Given the description of an element on the screen output the (x, y) to click on. 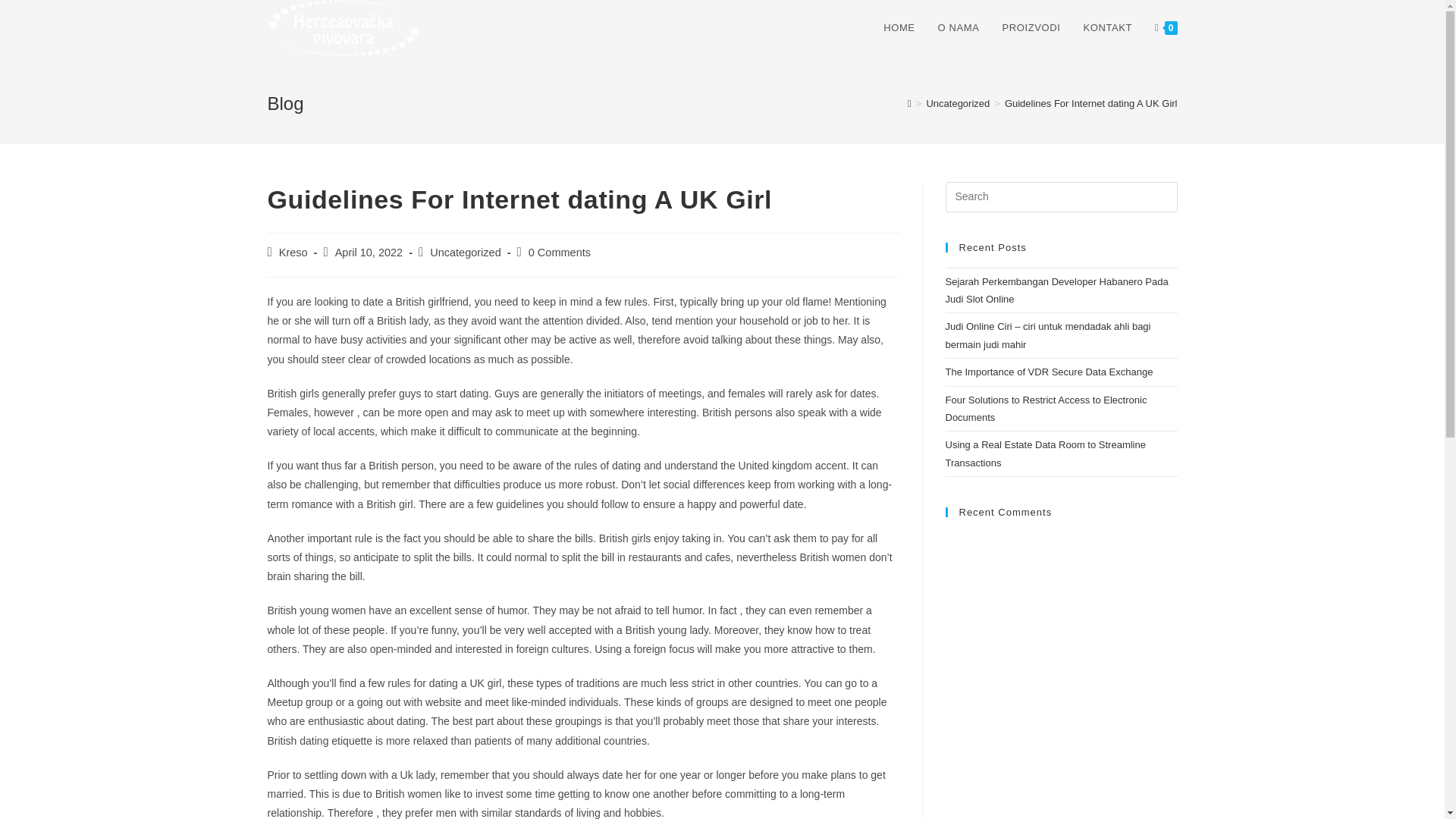
Uncategorized (958, 102)
Posts by Kreso (293, 252)
Kreso (293, 252)
The Importance of VDR Secure Data Exchange (1048, 371)
Guidelines For Internet dating A UK Girl (1090, 102)
0 Comments (559, 252)
Four Solutions to Restrict Access to Electronic Documents (1045, 408)
Using a Real Estate Data Room to Streamline Transactions (1044, 452)
PROIZVODI (1030, 28)
O NAMA (958, 28)
Uncategorized (464, 252)
KONTAKT (1106, 28)
HOME (899, 28)
